Given the description of an element on the screen output the (x, y) to click on. 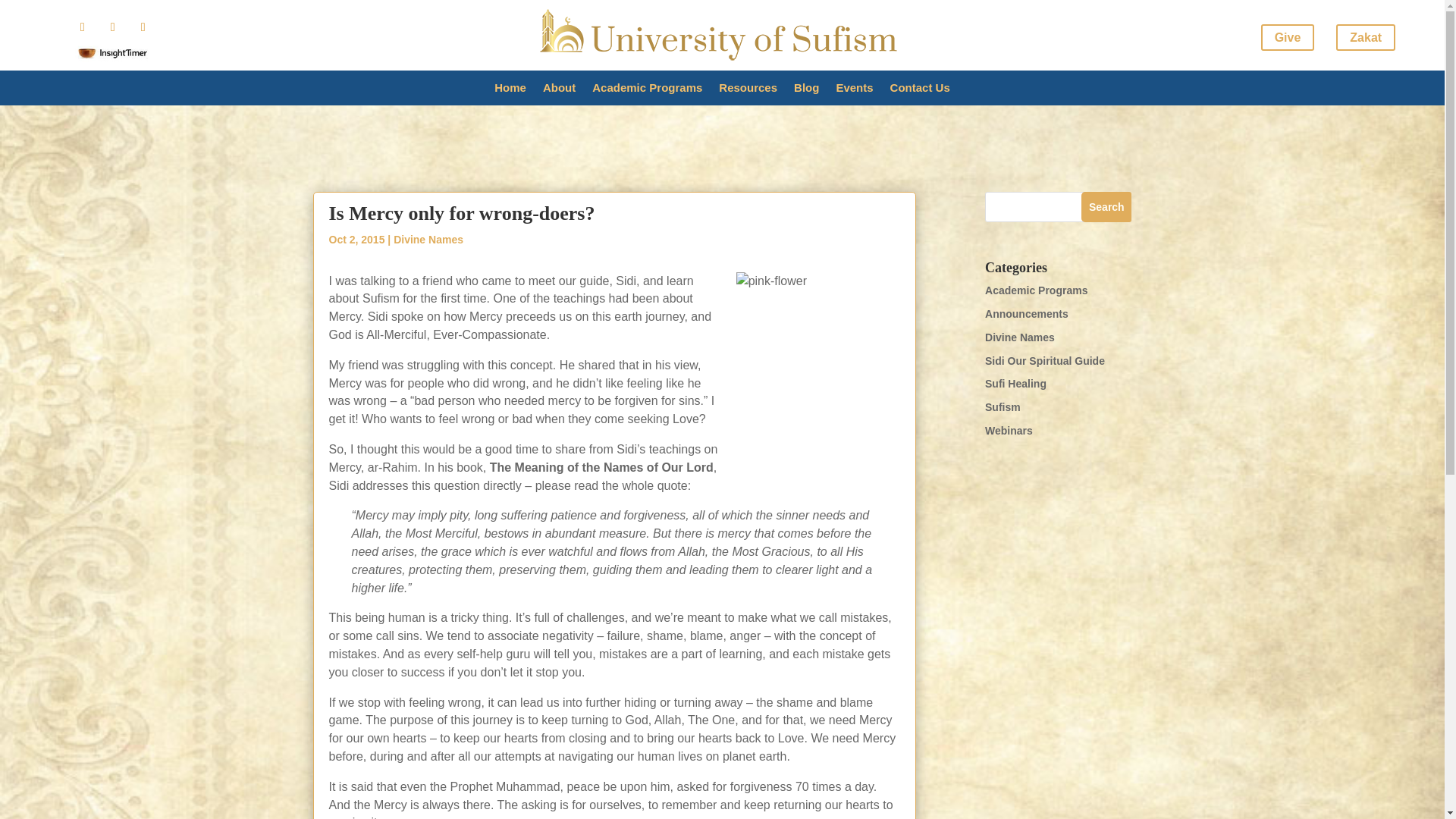
Resources (748, 90)
Give (1287, 37)
university-of-sufism-500 (721, 35)
Follow on Facebook (81, 27)
Contact Us (919, 90)
Blog (805, 90)
Follow on Instagram (112, 27)
Events (853, 90)
Search (1106, 206)
Zakat (1365, 37)
